Given the description of an element on the screen output the (x, y) to click on. 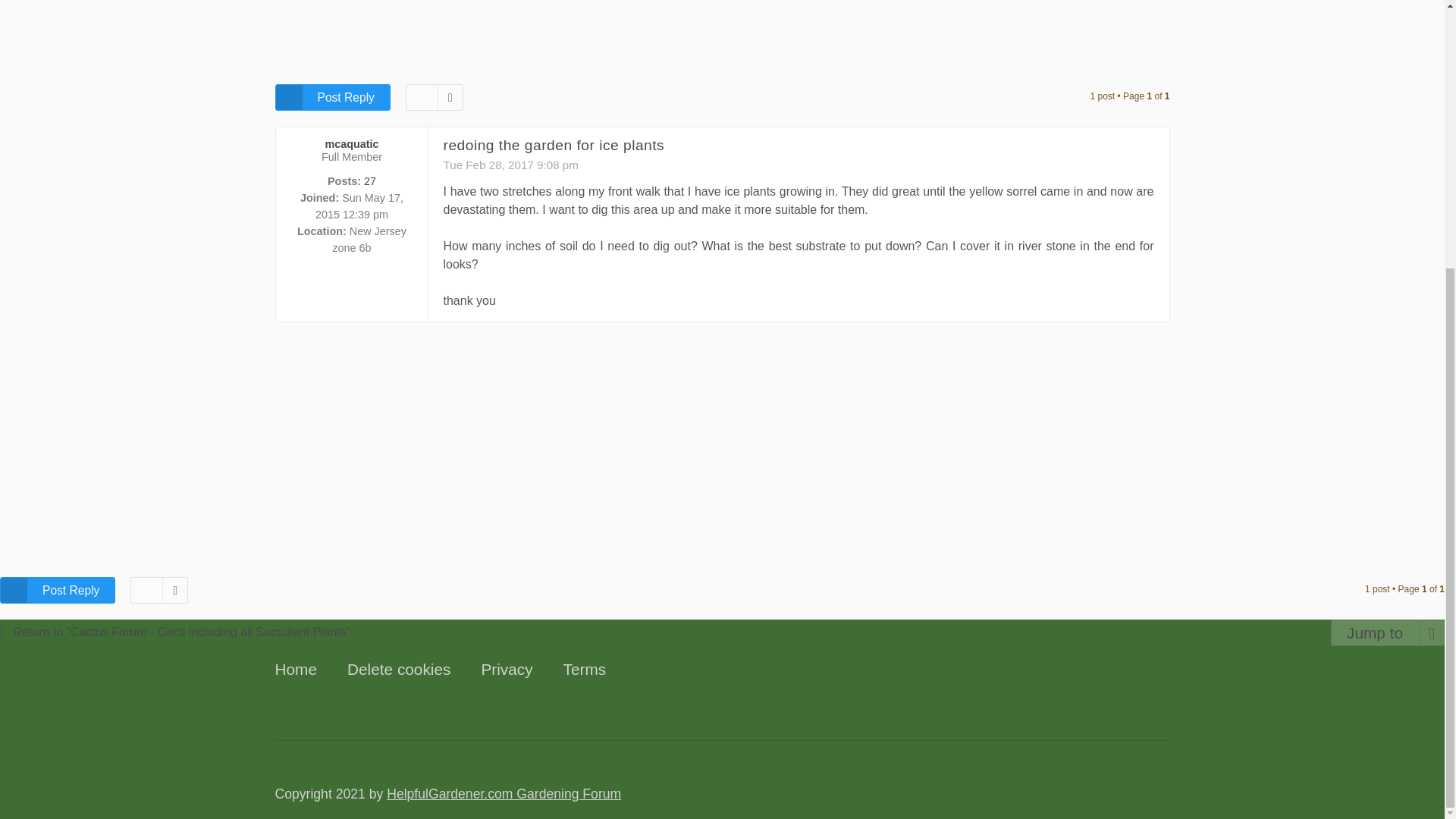
Post Reply (57, 590)
Reply with quote (1140, 154)
Advertisement (722, 33)
mcaquatic (351, 143)
Post Reply (332, 97)
Post a reply (332, 97)
27 (369, 181)
Tue Feb 28, 2017 9:08 pm (510, 164)
redoing the garden for ice plants (552, 145)
